Given the description of an element on the screen output the (x, y) to click on. 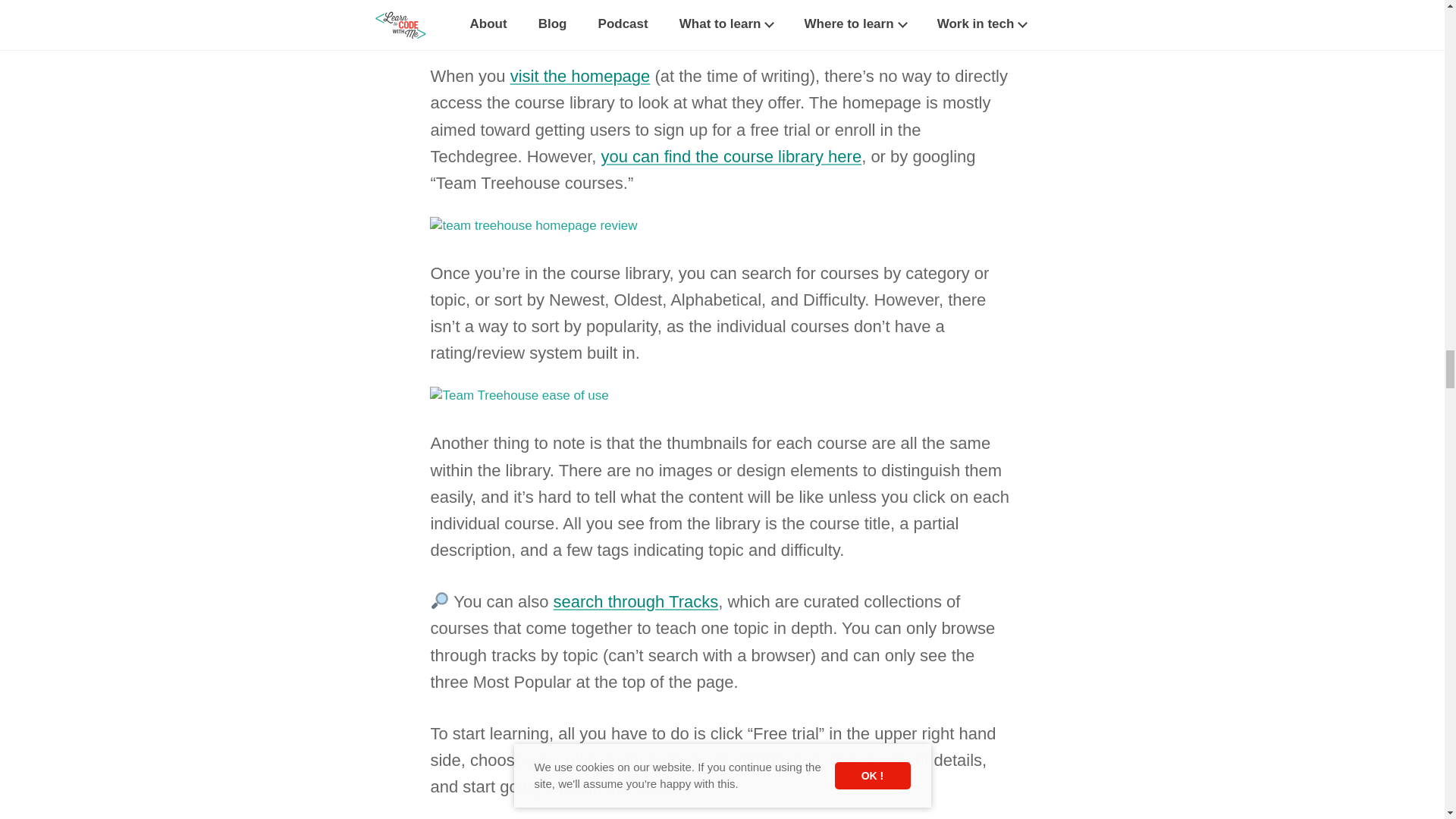
Team Treehouse - Track Library (731, 156)
Team Treehouse - Homepage (580, 75)
Team Treehouse - Python Courses (518, 395)
Team Treehouse - Tracks (636, 601)
Team Treehouse - Homepage (533, 225)
